Given the description of an element on the screen output the (x, y) to click on. 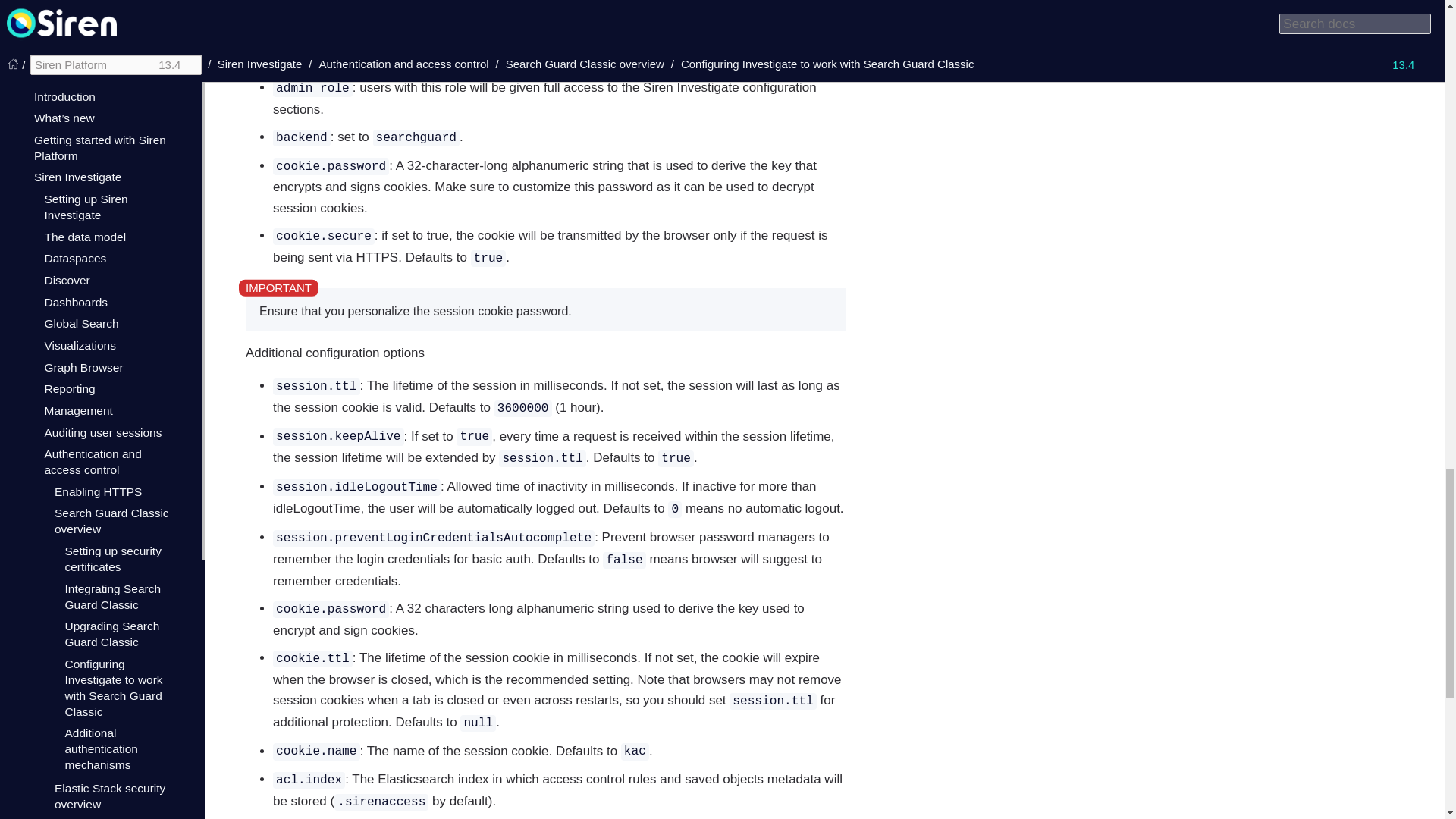
Important (278, 287)
